Given the description of an element on the screen output the (x, y) to click on. 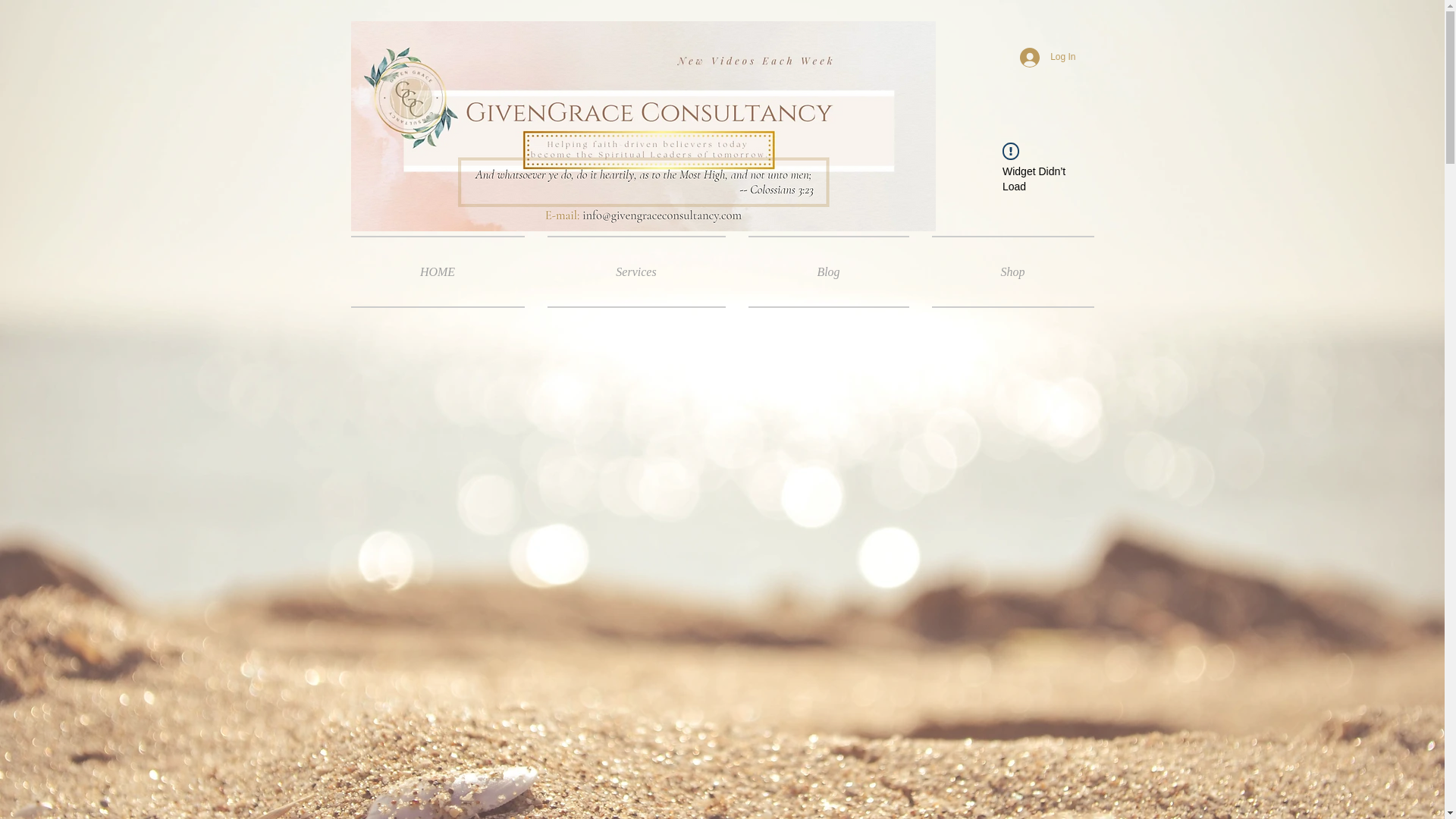
Log In (1047, 57)
Blog (828, 271)
HOME (442, 271)
Shop (1007, 271)
Services (635, 271)
